Given the description of an element on the screen output the (x, y) to click on. 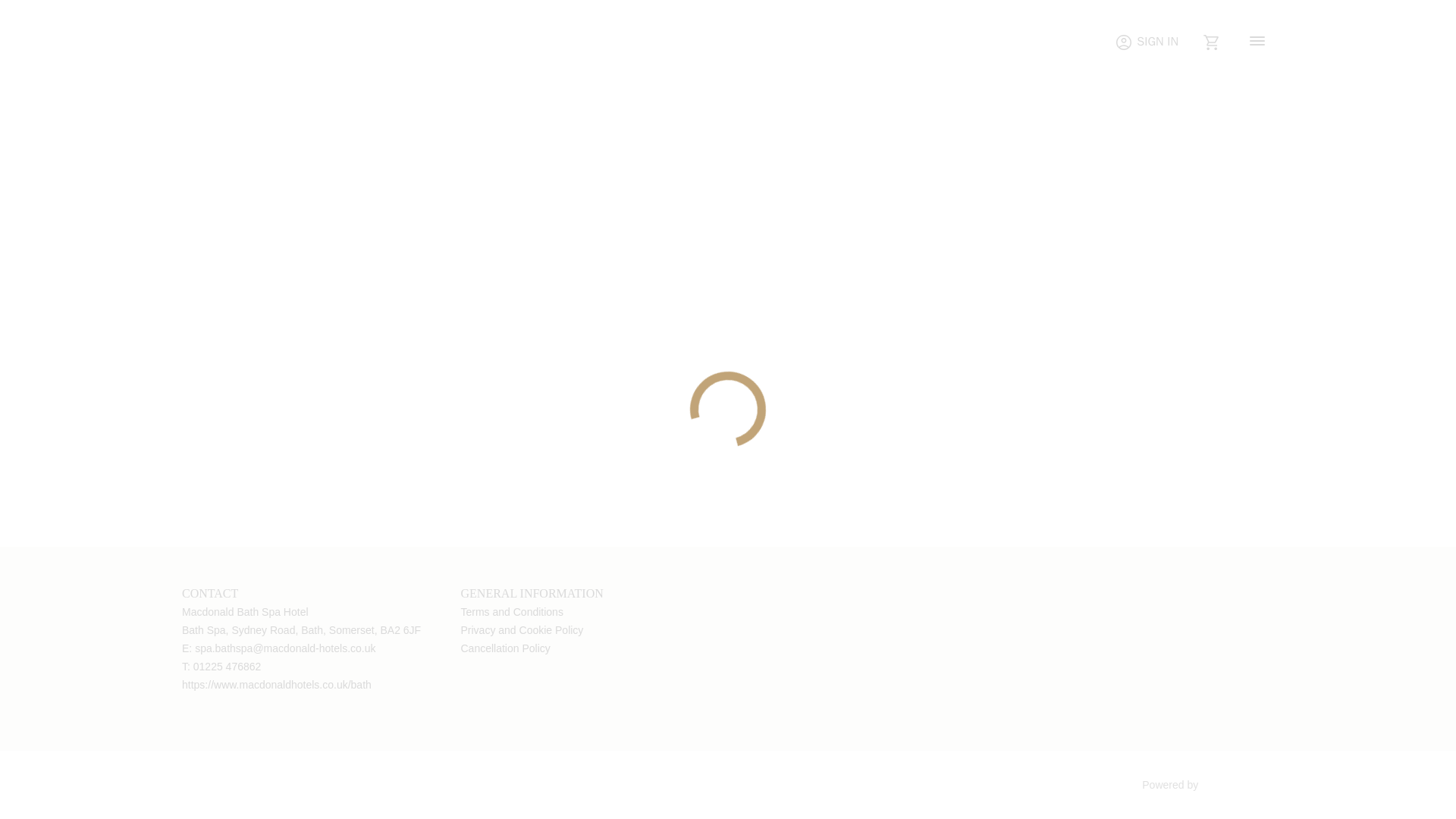
Privacy and Cookie Policy (522, 630)
Terms and Conditions (512, 612)
SIGN IN (1146, 41)
Cancellation Policy (505, 648)
01225 476862 (227, 666)
